Given the description of an element on the screen output the (x, y) to click on. 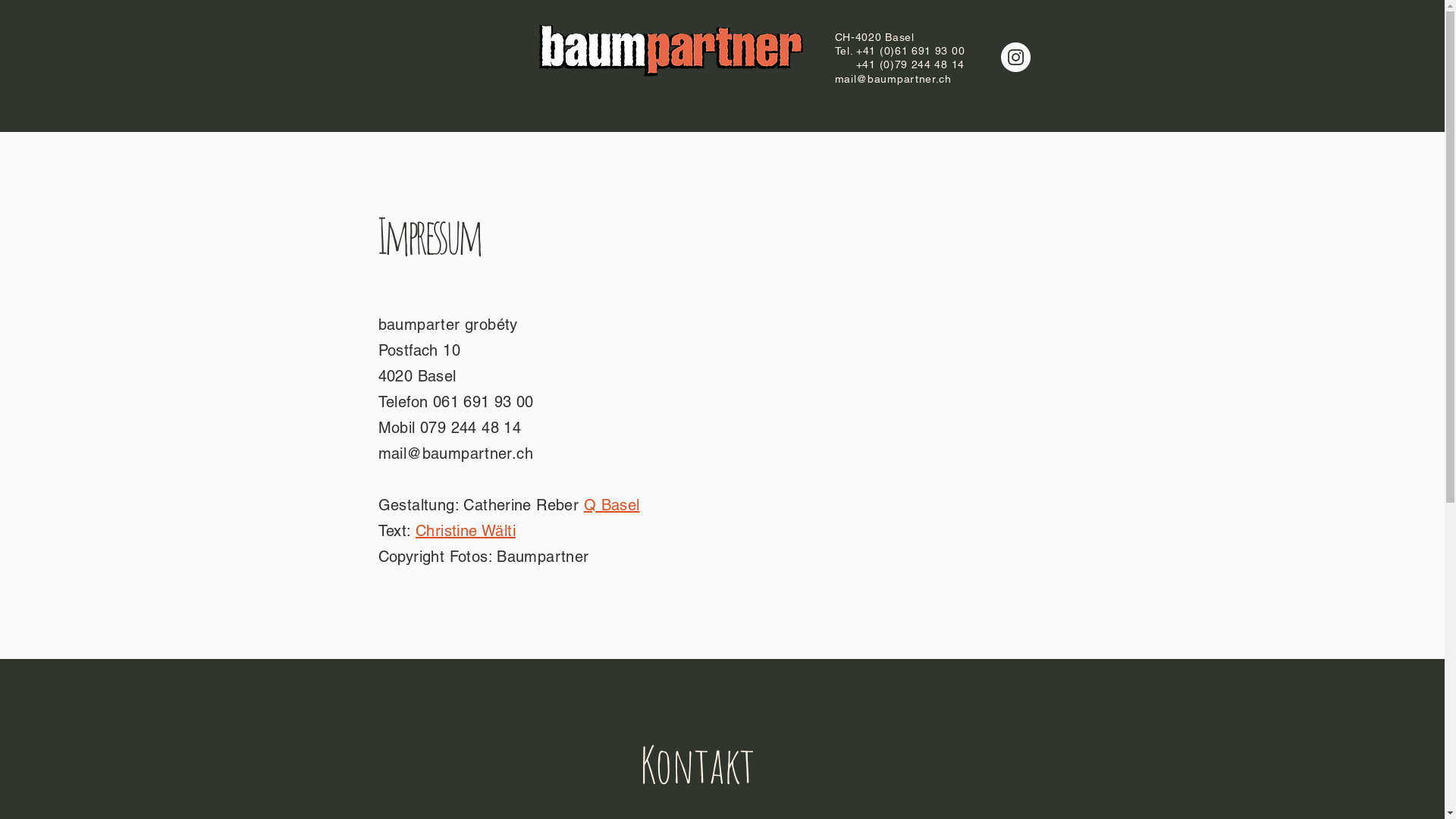
mail@baumpartner.ch Element type: text (892, 78)
mail@baumpartner.ch Element type: text (455, 453)
Tel. +41 (0)61 691 93 00 Element type: text (899, 50)
Q Basel Element type: text (611, 504)
